Given the description of an element on the screen output the (x, y) to click on. 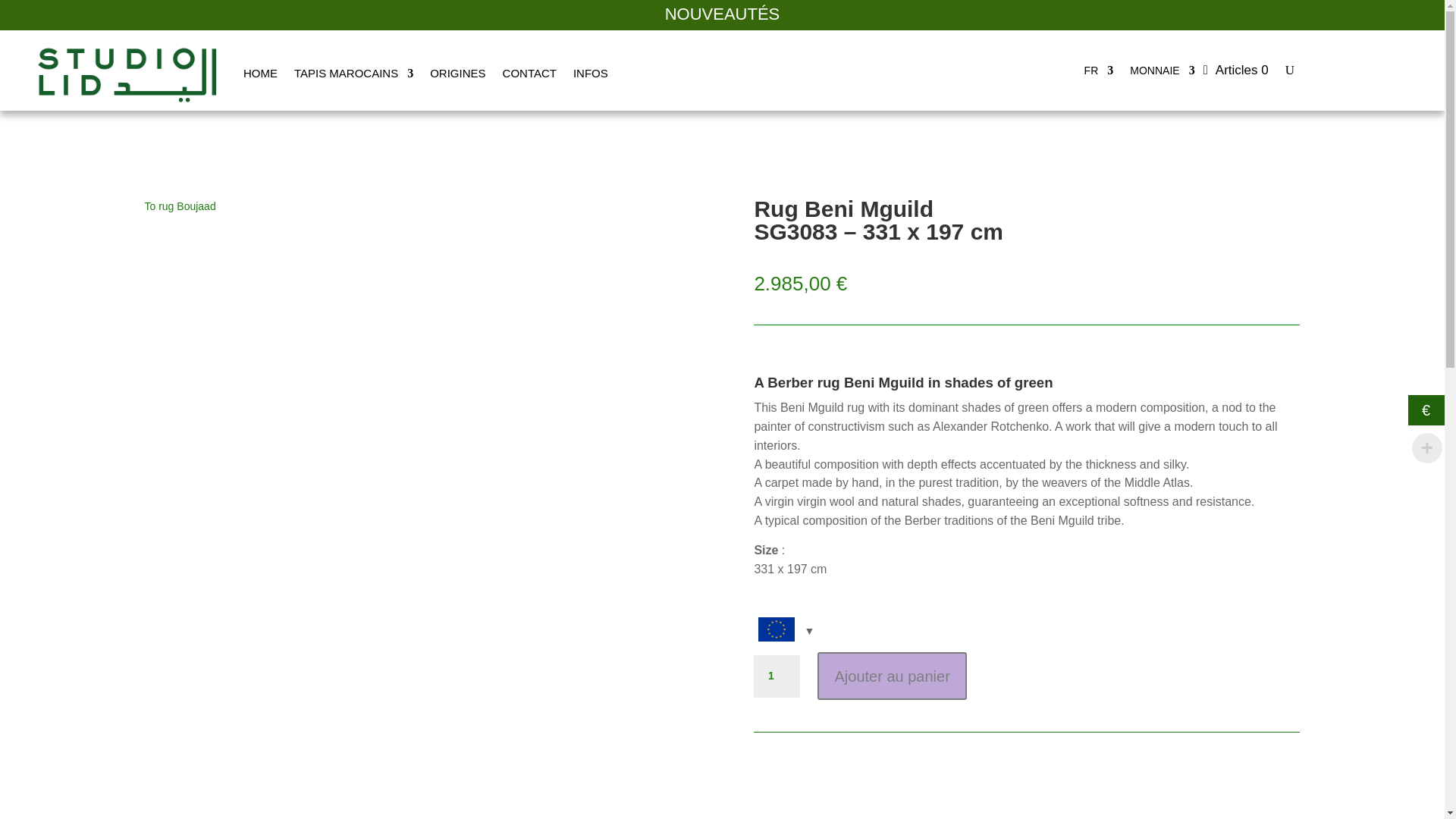
MONNAIE (1161, 73)
Articles 0 (1236, 69)
1 (776, 676)
Please select your currency (783, 631)
TAPIS MAROCAINS (353, 73)
FR (1098, 73)
